Given the description of an element on the screen output the (x, y) to click on. 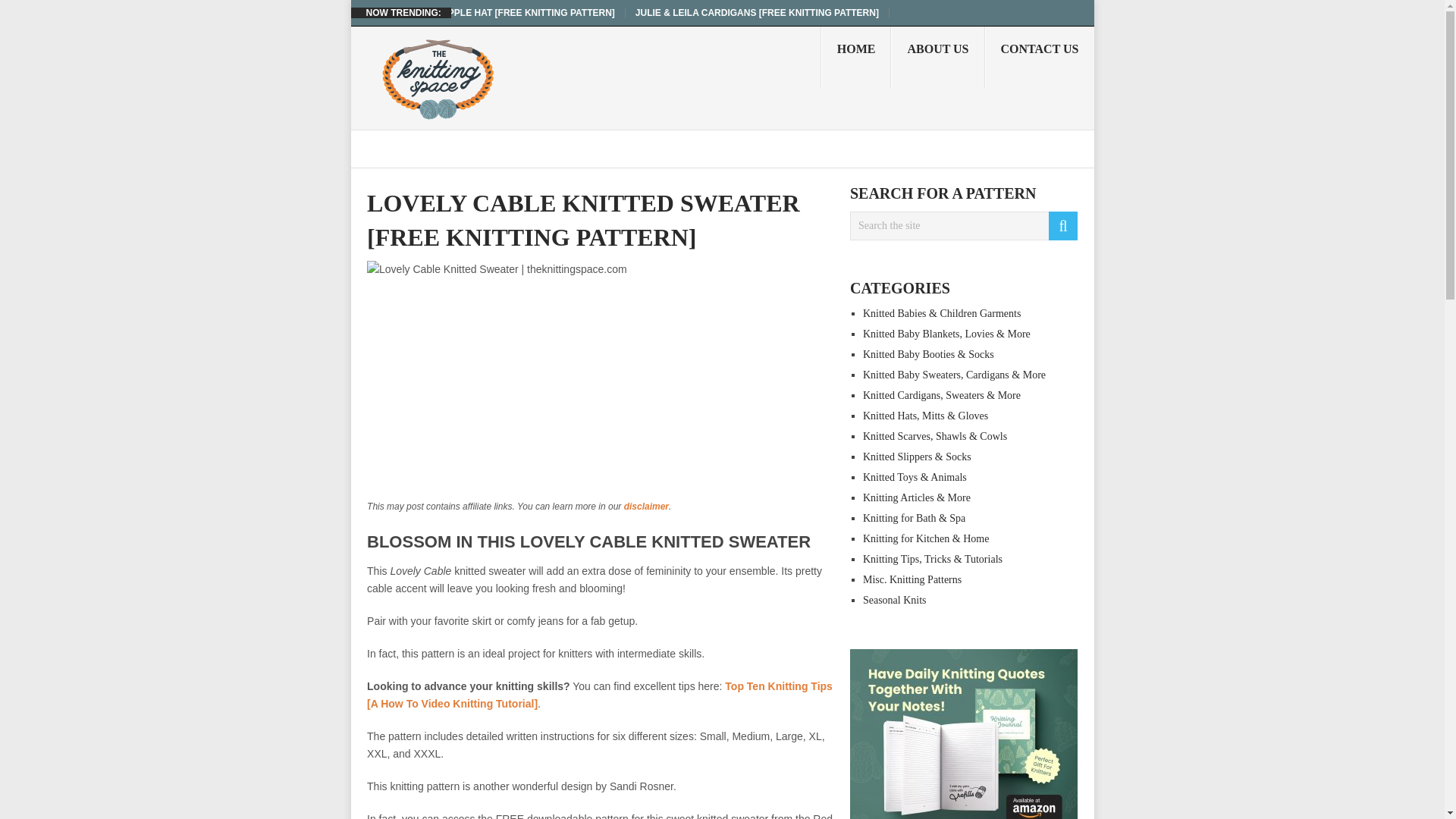
ABOUT US (937, 57)
Advertisement (601, 391)
HOME (856, 57)
CONTACT US (1039, 57)
disclaimer (646, 506)
